Given the description of an element on the screen output the (x, y) to click on. 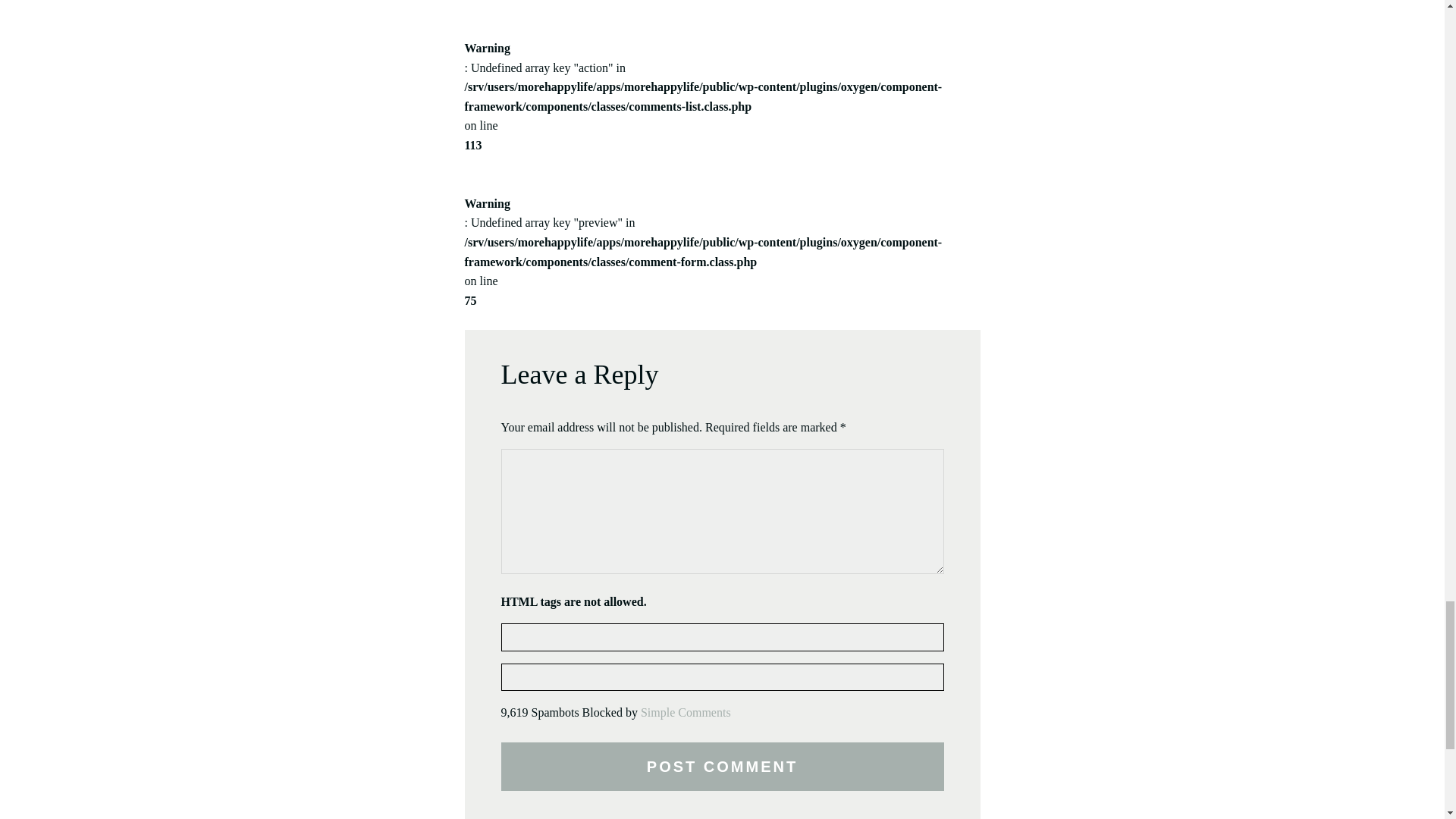
Post Comment (721, 766)
Post Comment (721, 766)
Simple Comments (685, 712)
Simple Comments (685, 712)
